Given the description of an element on the screen output the (x, y) to click on. 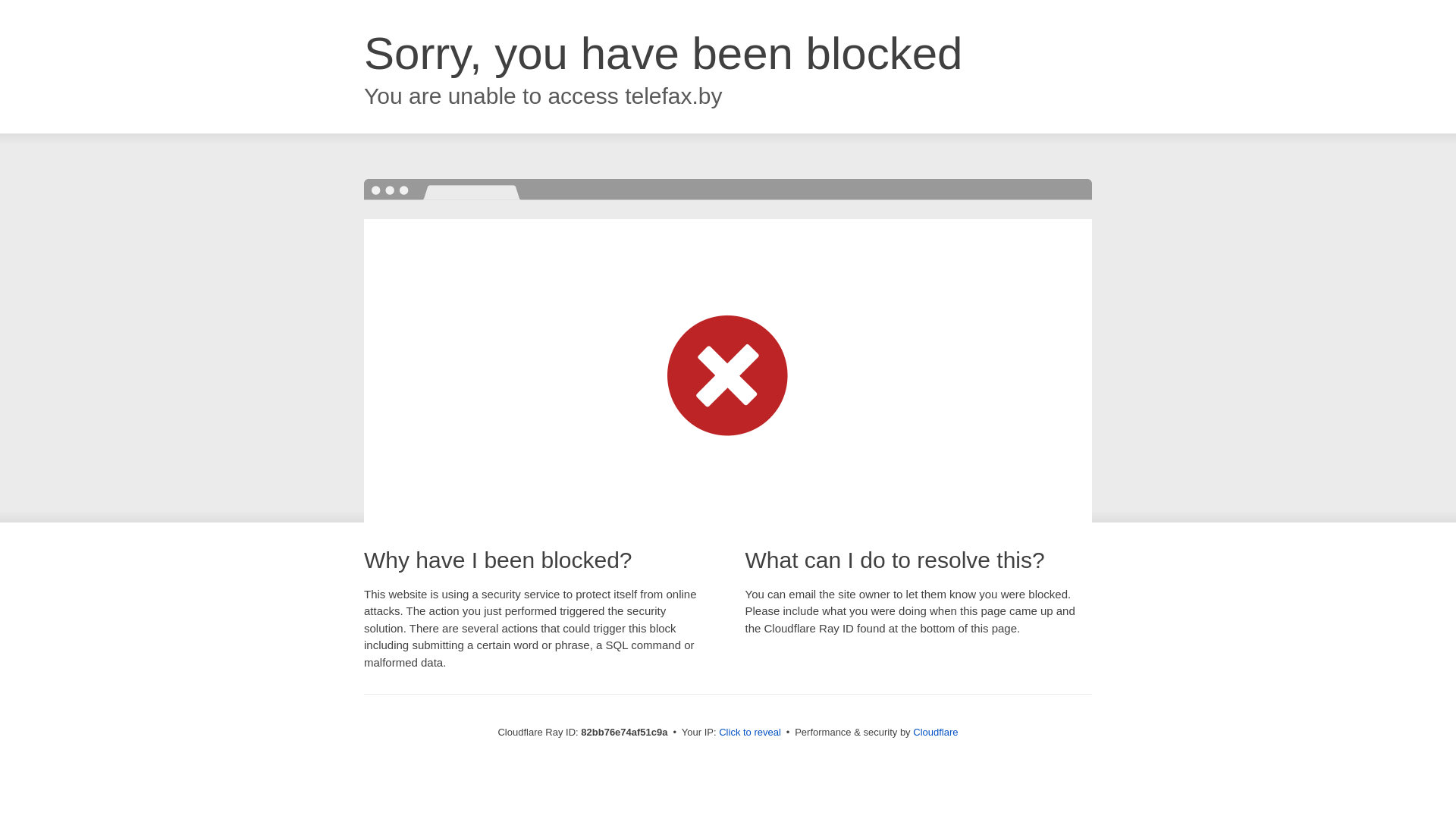
Click to reveal Element type: text (749, 732)
Cloudflare Element type: text (935, 731)
